Given the description of an element on the screen output the (x, y) to click on. 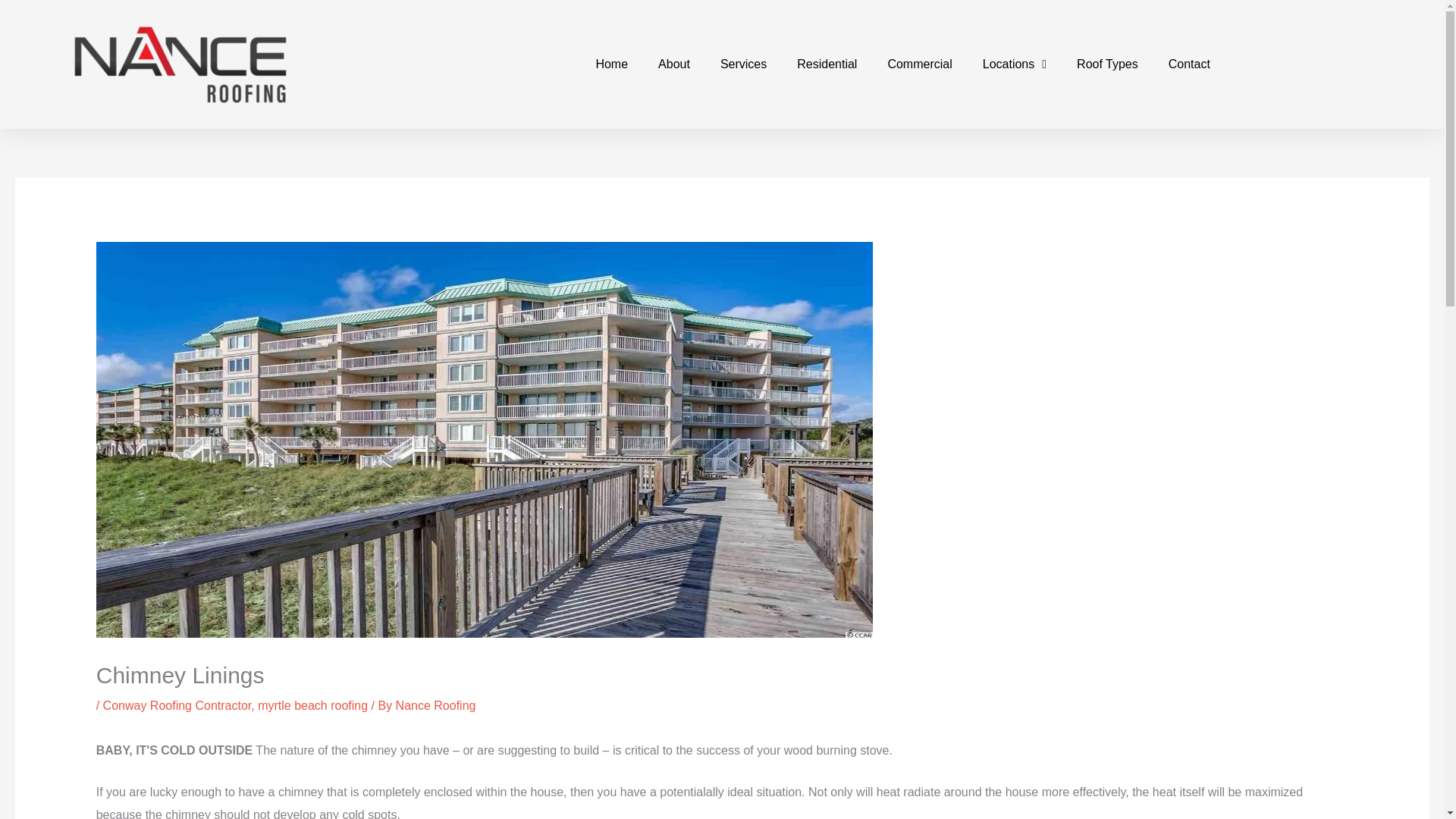
Residential (826, 63)
Locations (1014, 63)
Commercial (919, 63)
Roof Types (1107, 63)
Home (611, 63)
About (673, 63)
View all posts by Nance Roofing (436, 705)
Services (742, 63)
Contact (1189, 63)
